Given the description of an element on the screen output the (x, y) to click on. 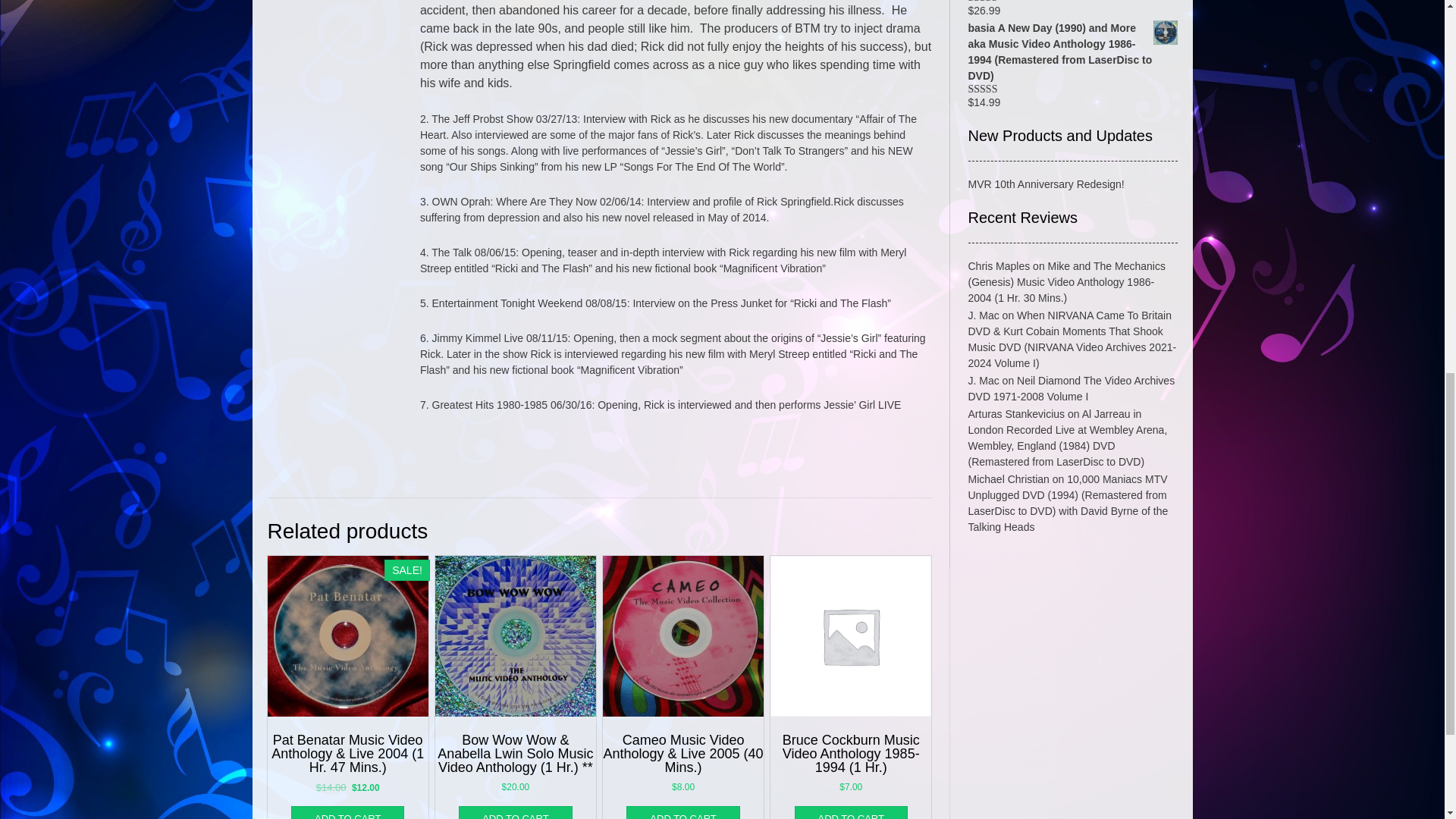
ADD TO CART (850, 812)
ADD TO CART (347, 812)
ADD TO CART (515, 812)
ADD TO CART (682, 812)
